Given the description of an element on the screen output the (x, y) to click on. 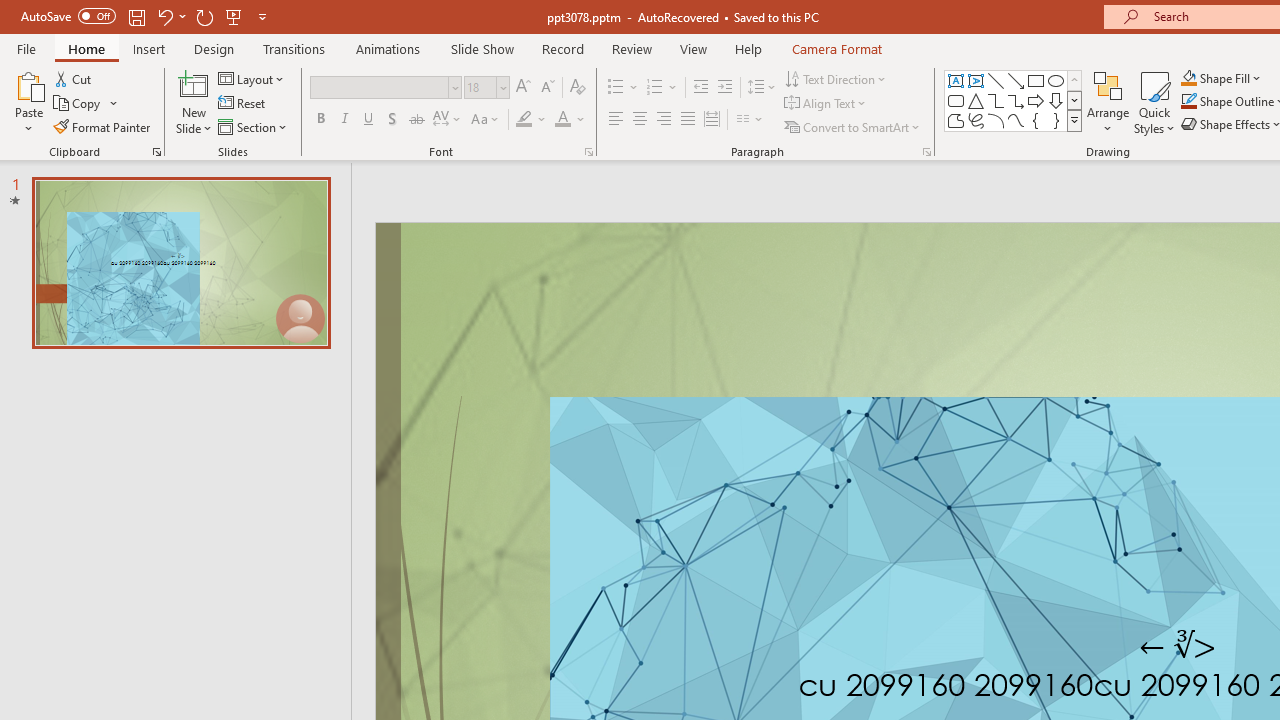
Shape Fill (1221, 78)
Bold (320, 119)
Align Left (616, 119)
Section (254, 126)
Row Down (1074, 100)
Camera Format (836, 48)
Italic (344, 119)
Arrange (1108, 102)
File Tab (26, 48)
Rectangle (1035, 80)
Open (502, 87)
Font Size (486, 87)
Convert to SmartArt (853, 126)
